Given the description of an element on the screen output the (x, y) to click on. 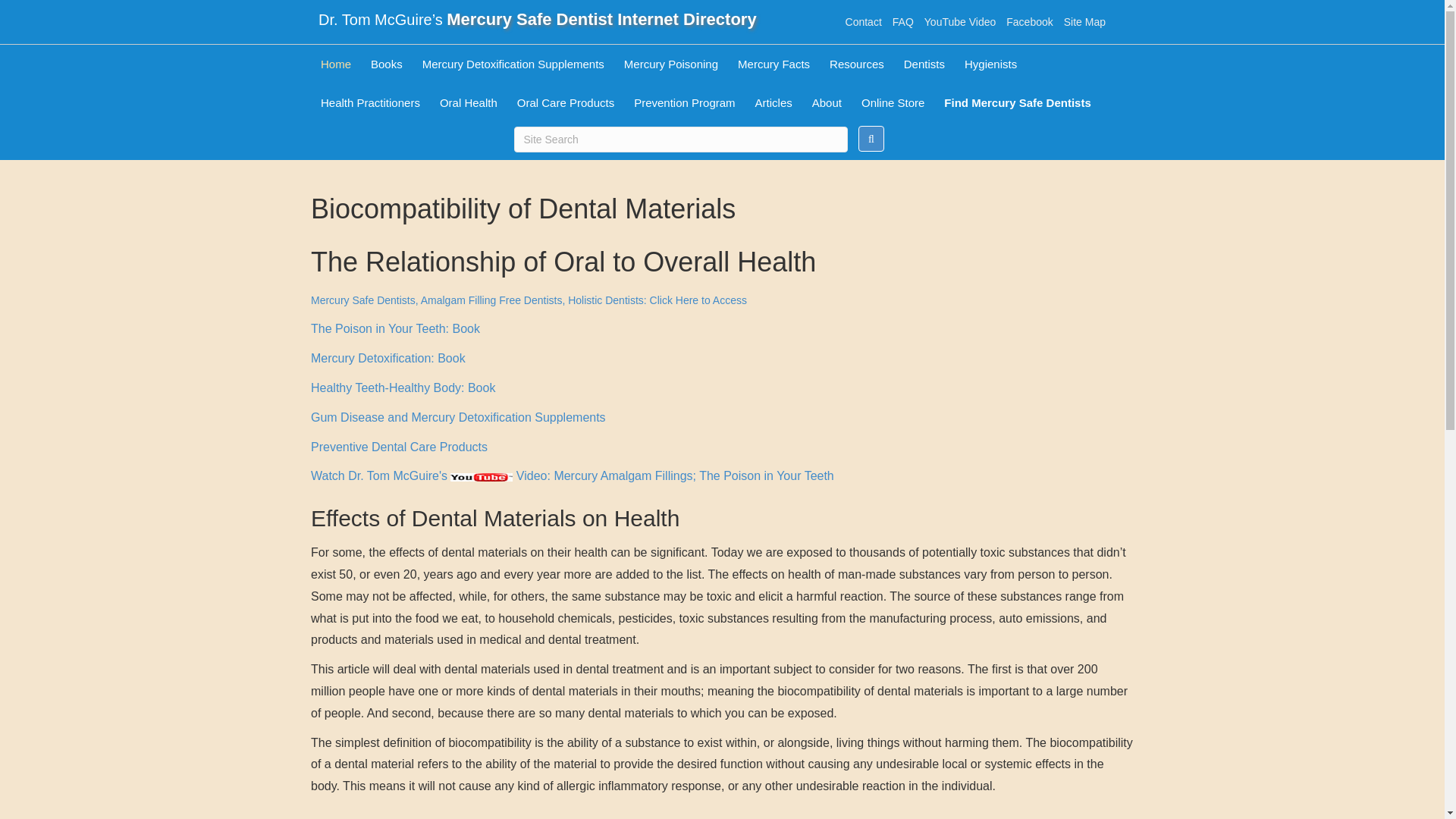
Contact (863, 21)
Mercury Poisoning (671, 64)
Home (336, 64)
Site Map (1084, 21)
Mercury Facts (773, 64)
Resources (856, 64)
Books (386, 64)
FAQ (902, 21)
Facebook (1029, 21)
Mercury Detoxification Supplements (513, 64)
YouTube Video (959, 21)
